Given the description of an element on the screen output the (x, y) to click on. 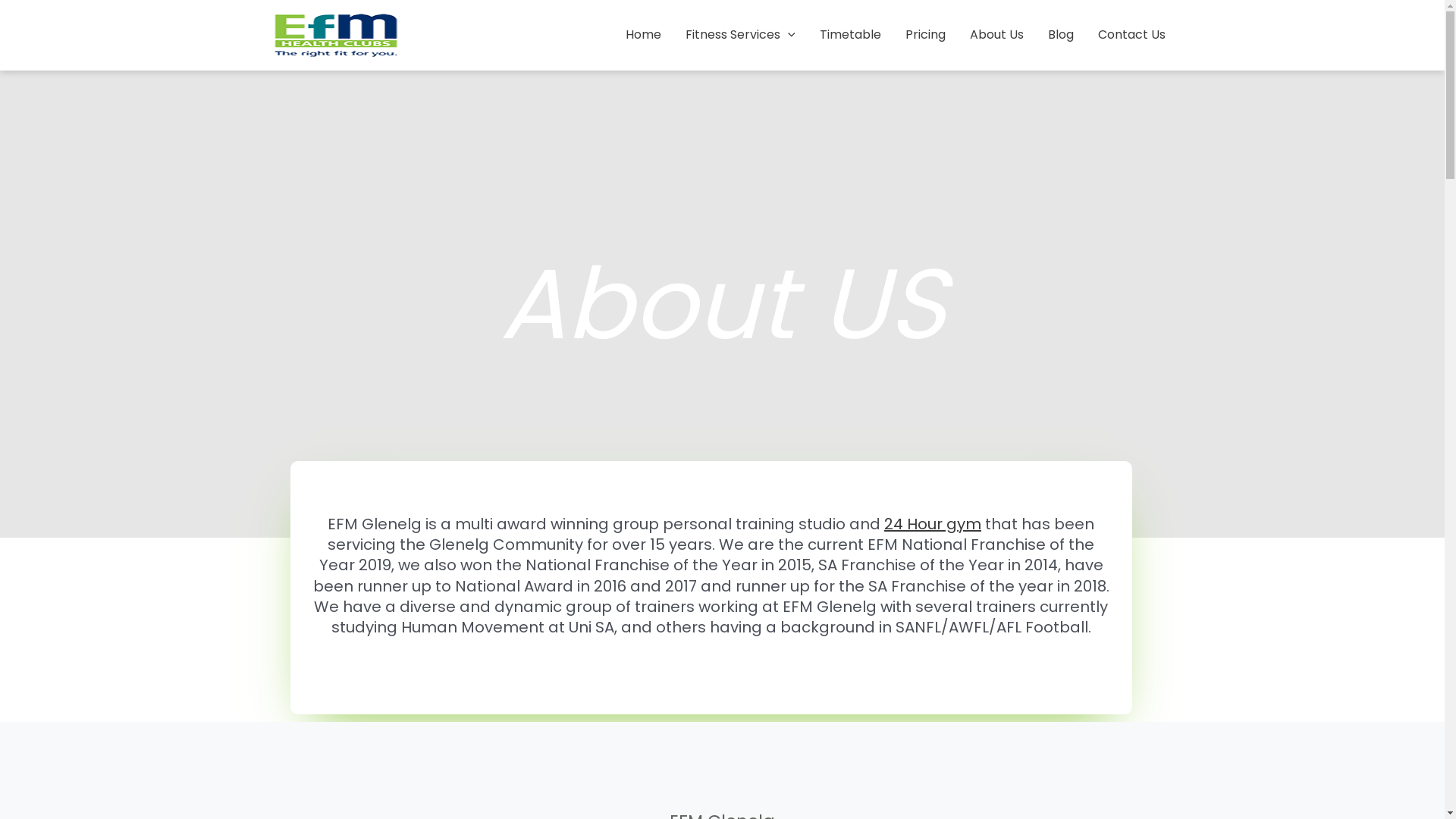
About Us Element type: text (996, 34)
Pricing Element type: text (925, 34)
Home Element type: text (643, 34)
Timetable Element type: text (849, 34)
Fitness Services Element type: text (740, 34)
24 Hour gym Element type: text (932, 523)
Contact Us Element type: text (1131, 34)
Blog Element type: text (1060, 34)
